Given the description of an element on the screen output the (x, y) to click on. 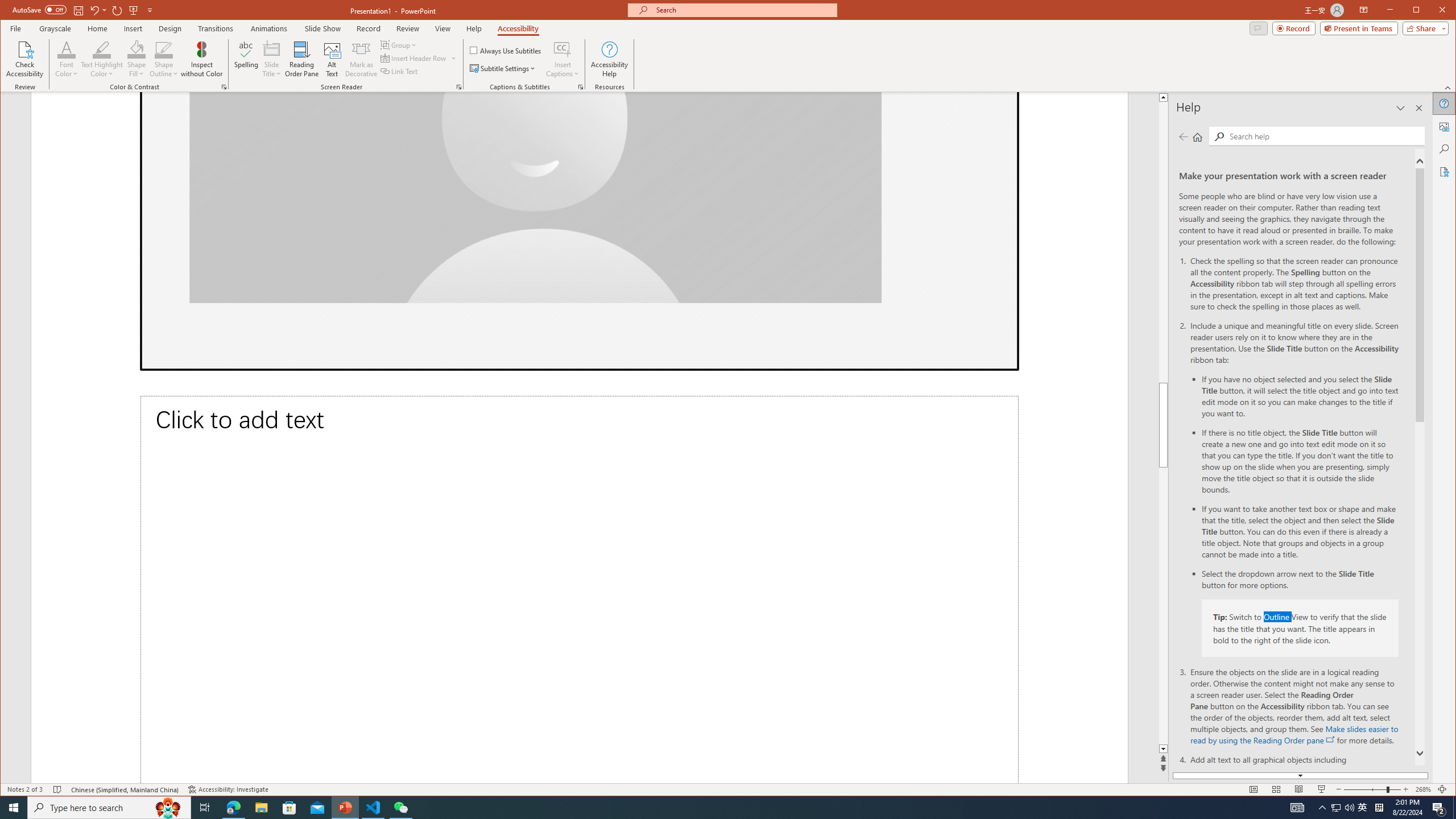
Color & Contrast (223, 86)
